Given the description of an element on the screen output the (x, y) to click on. 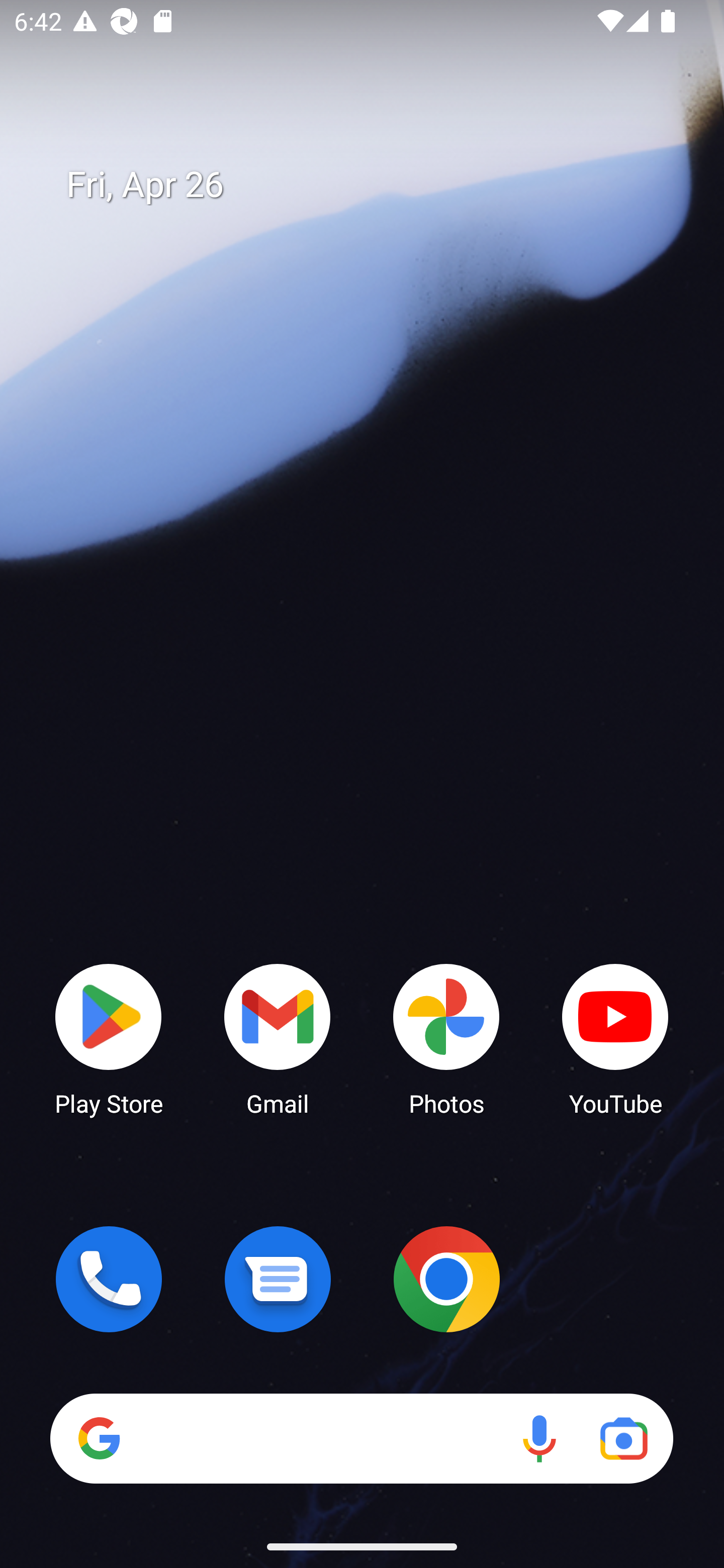
Fri, Apr 26 (375, 184)
Play Store (108, 1038)
Gmail (277, 1038)
Photos (445, 1038)
YouTube (615, 1038)
Phone (108, 1279)
Messages (277, 1279)
Chrome (446, 1279)
Search Voice search Google Lens (361, 1438)
Voice search (539, 1438)
Google Lens (623, 1438)
